Given the description of an element on the screen output the (x, y) to click on. 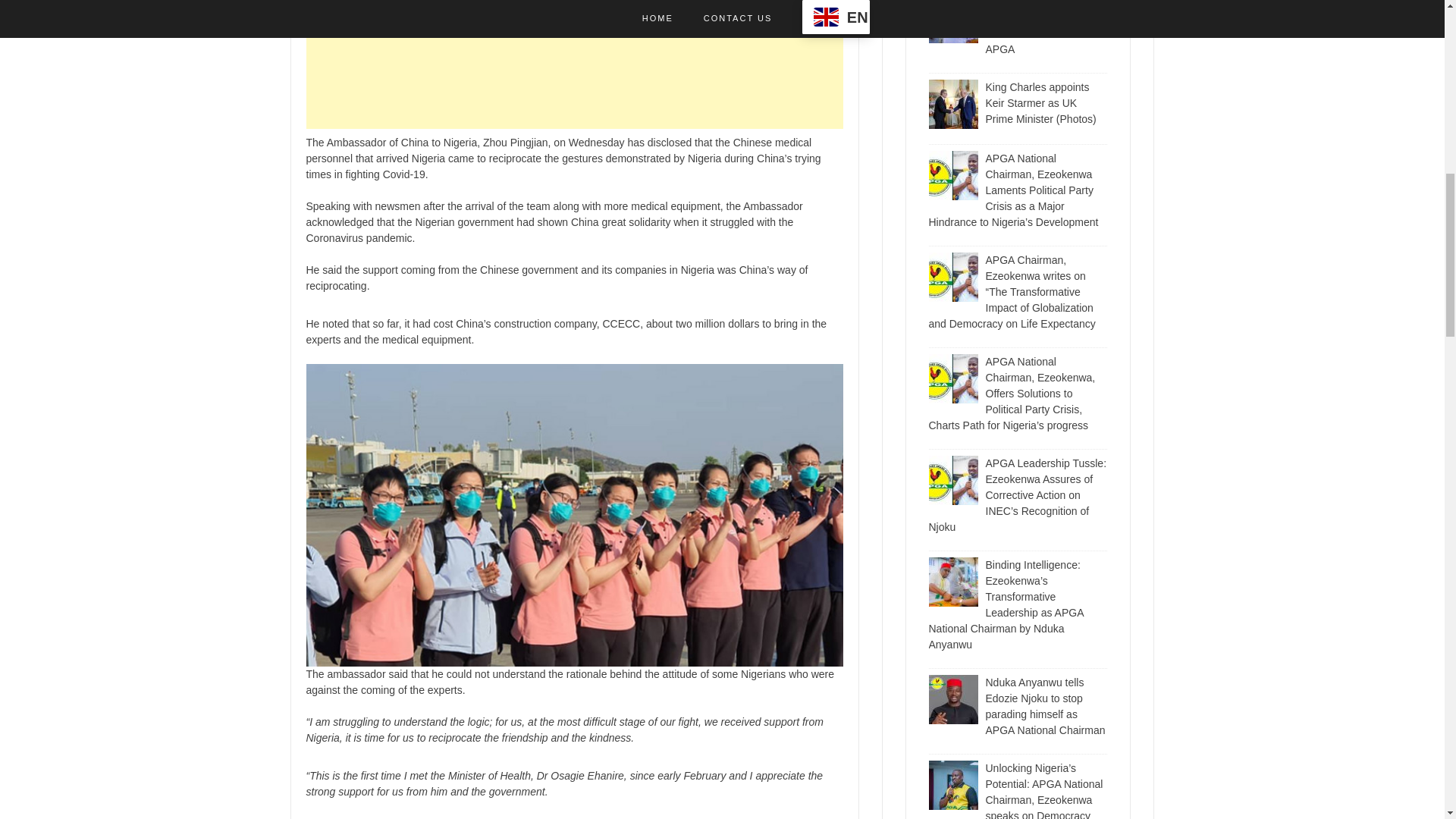
Advertisement (574, 64)
